Given the description of an element on the screen output the (x, y) to click on. 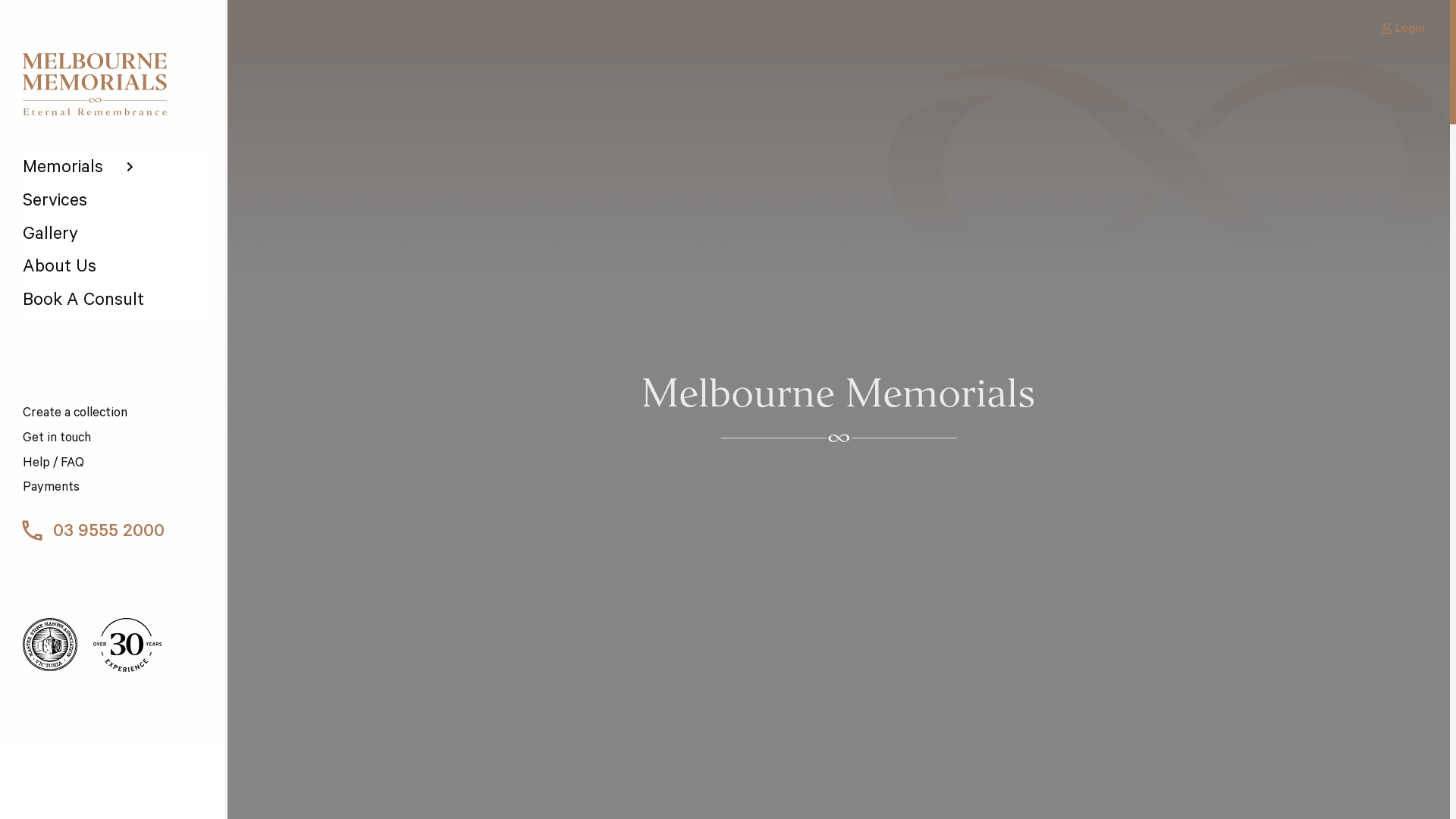
About Us Element type: text (116, 268)
Create a collection Element type: text (116, 414)
Services Element type: text (116, 202)
Login Element type: text (1402, 28)
Get in touch Element type: text (116, 439)
Gallery Element type: text (116, 236)
Memorials Element type: text (116, 169)
Payments Element type: text (116, 489)
Book A Consult Element type: text (116, 302)
Help / FAQ Element type: text (116, 464)
